Given the description of an element on the screen output the (x, y) to click on. 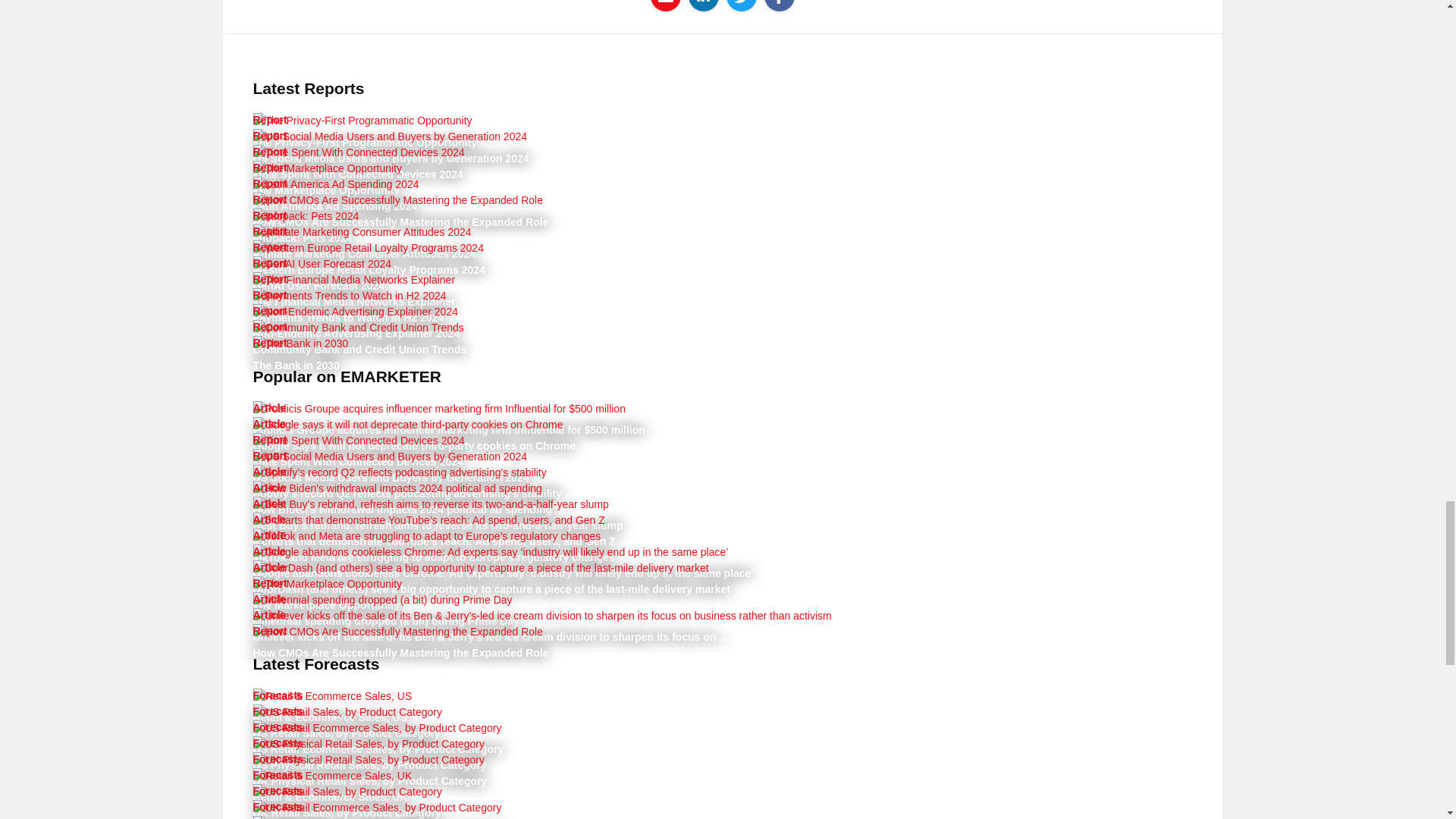
Share via Email (665, 0)
Share via Facebook (738, 184)
